Given the description of an element on the screen output the (x, y) to click on. 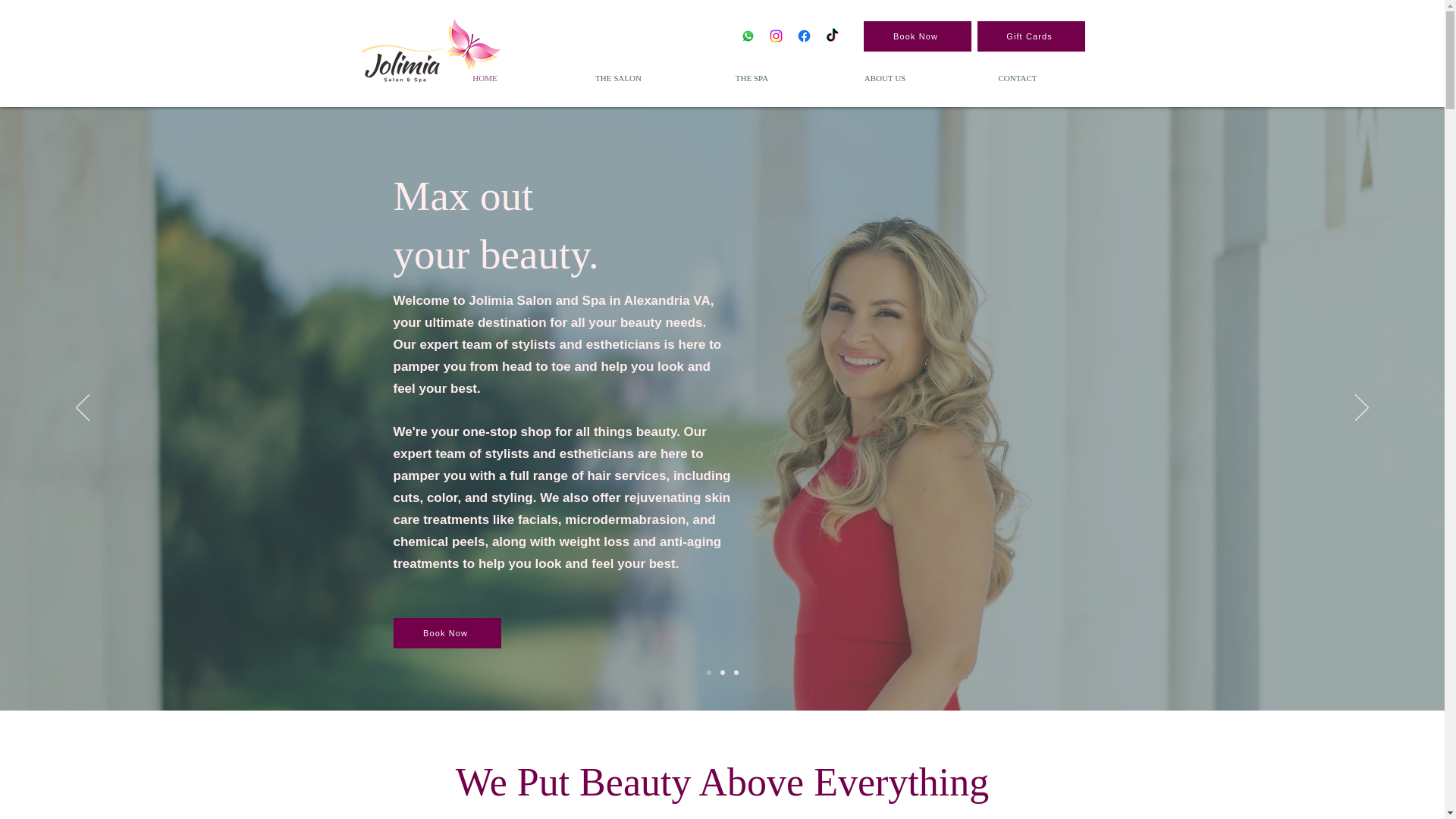
Book Now (917, 36)
Jolimia-Salon-and-Spa-Logo.png (430, 50)
CONTACT (1016, 77)
Book Now (446, 633)
THE SALON (618, 77)
THE SPA (751, 77)
Gift Cards (1030, 36)
HOME (485, 77)
ABOUT US (885, 77)
